Given the description of an element on the screen output the (x, y) to click on. 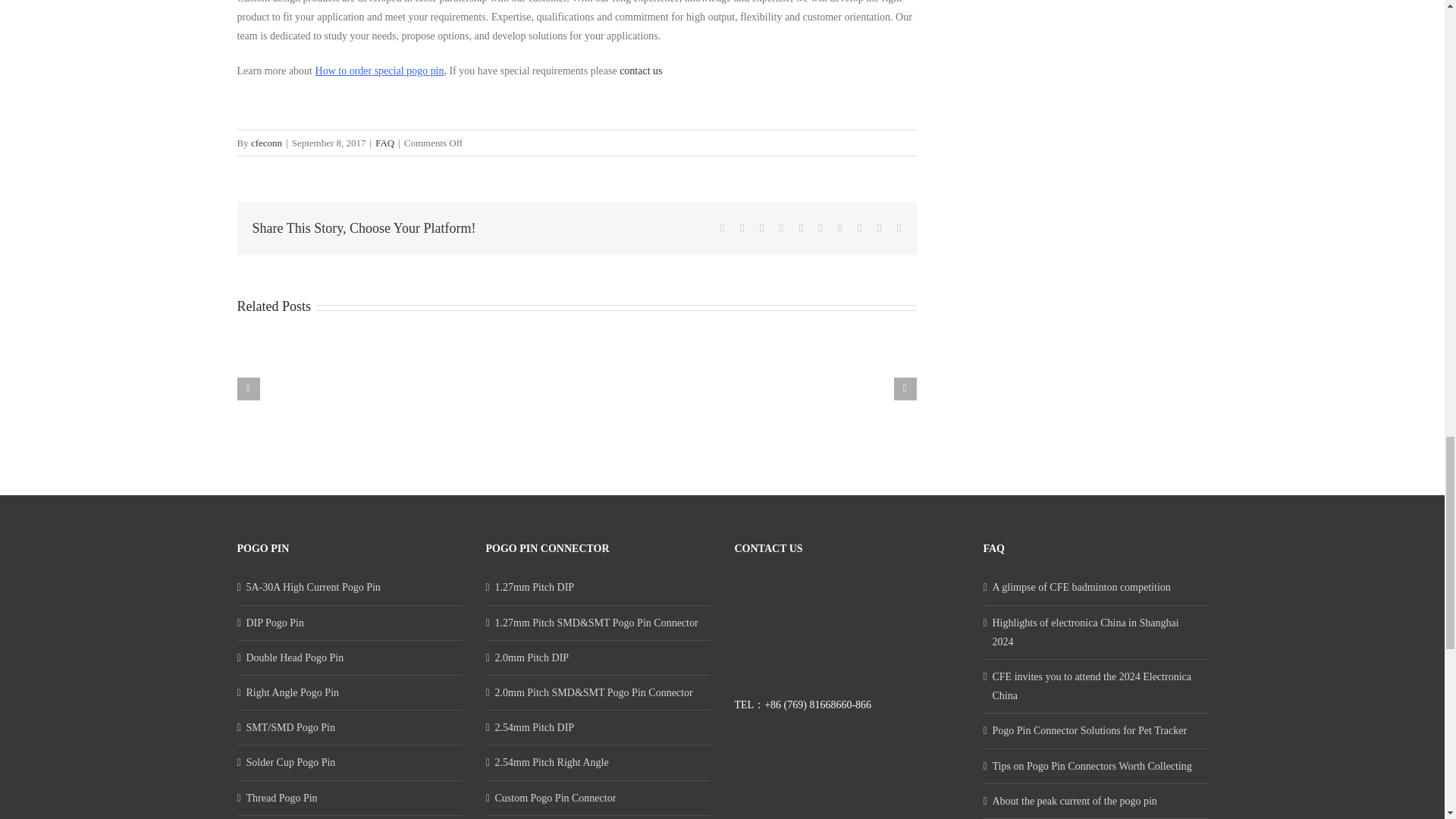
Posts by cfeconn (266, 142)
